Given the description of an element on the screen output the (x, y) to click on. 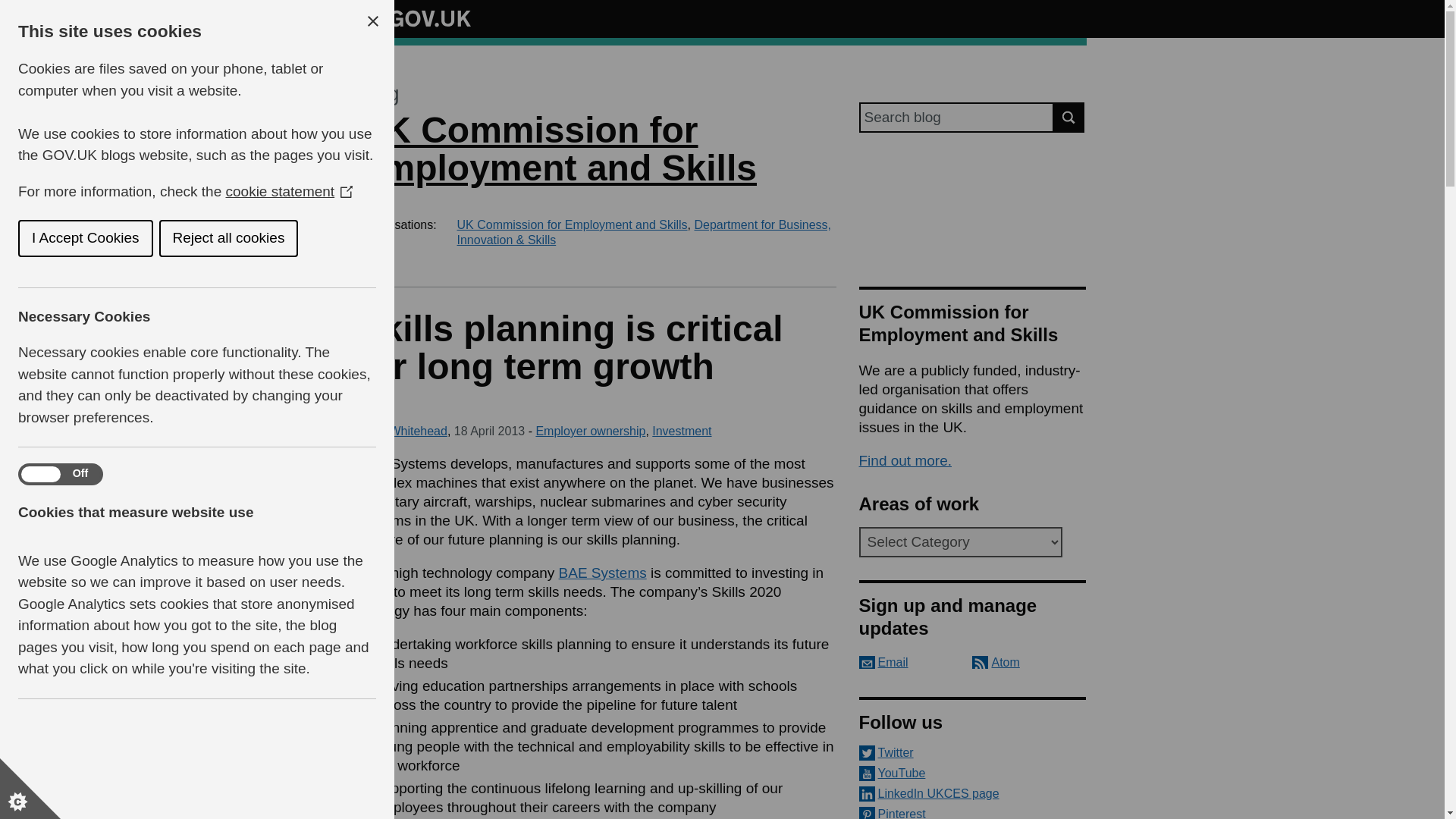
GOV.UK (414, 15)
UK Commission for Employment and Skills (556, 148)
Reject all cookies (65, 238)
GOV.UK (414, 18)
Email (883, 662)
Nigel Whitehead (402, 431)
Go to the GOV.UK homepage (414, 18)
Posts by Nigel Whitehead (402, 431)
Search (1069, 117)
Search (1069, 117)
